Given the description of an element on the screen output the (x, y) to click on. 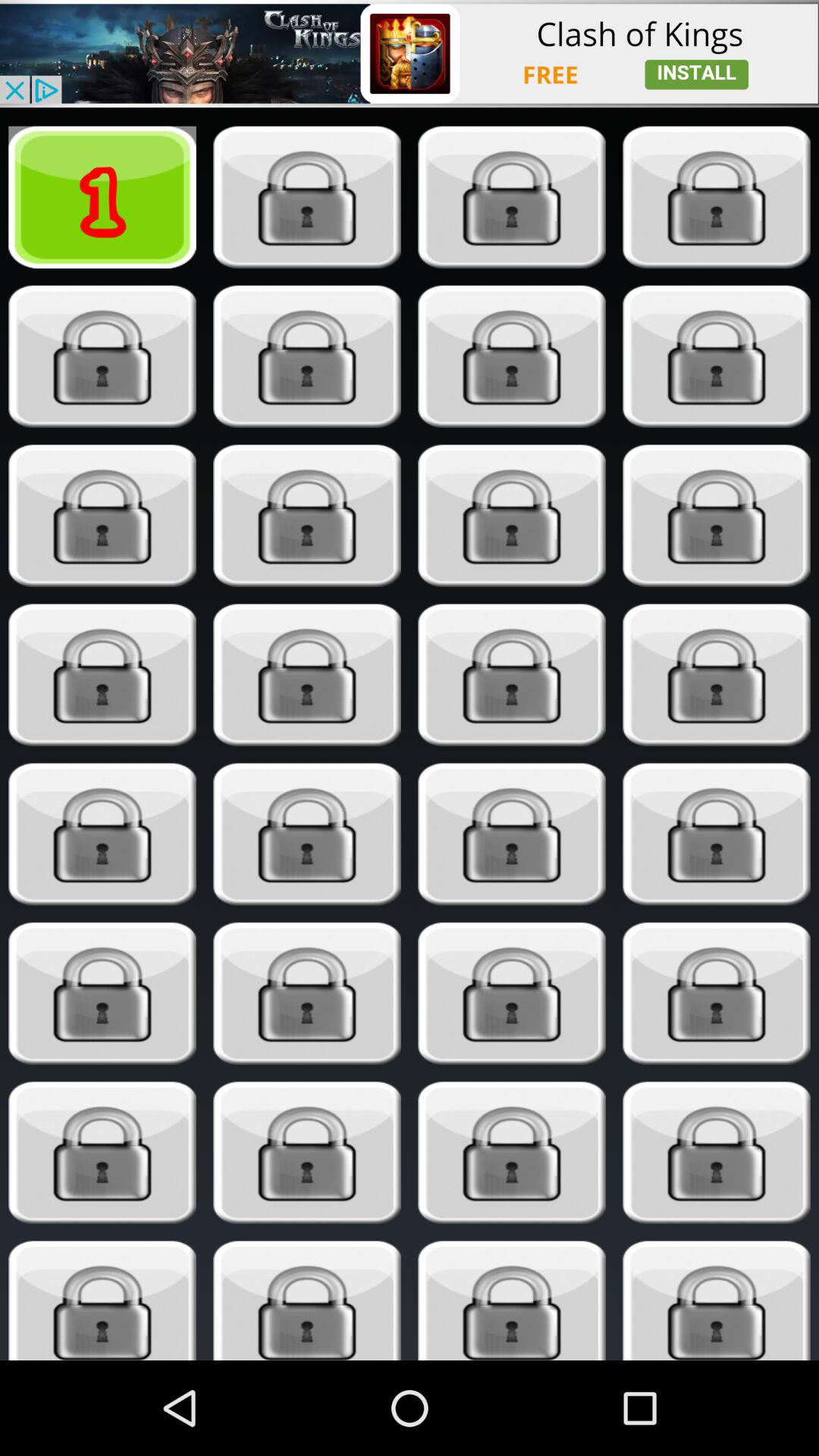
click to unlock (306, 515)
